Given the description of an element on the screen output the (x, y) to click on. 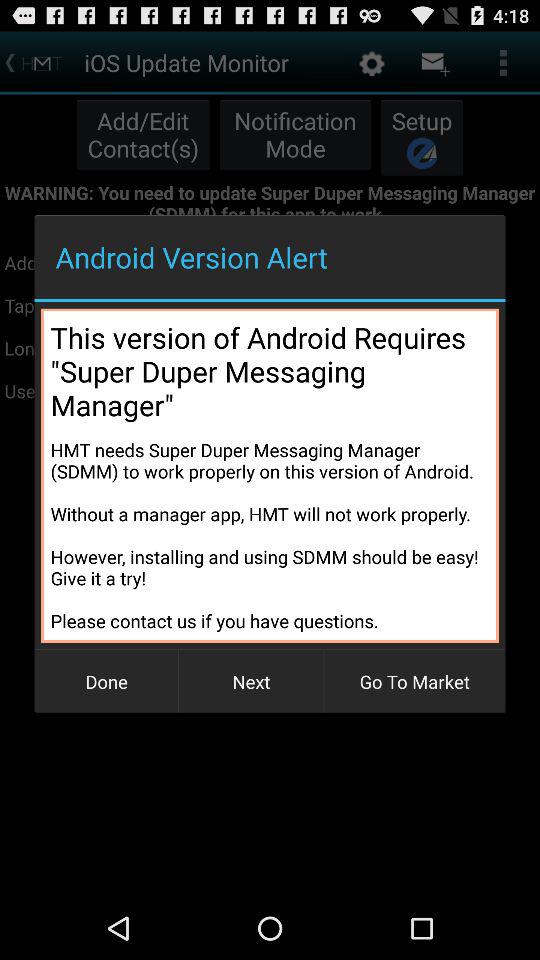
select the item at the bottom (251, 681)
